Given the description of an element on the screen output the (x, y) to click on. 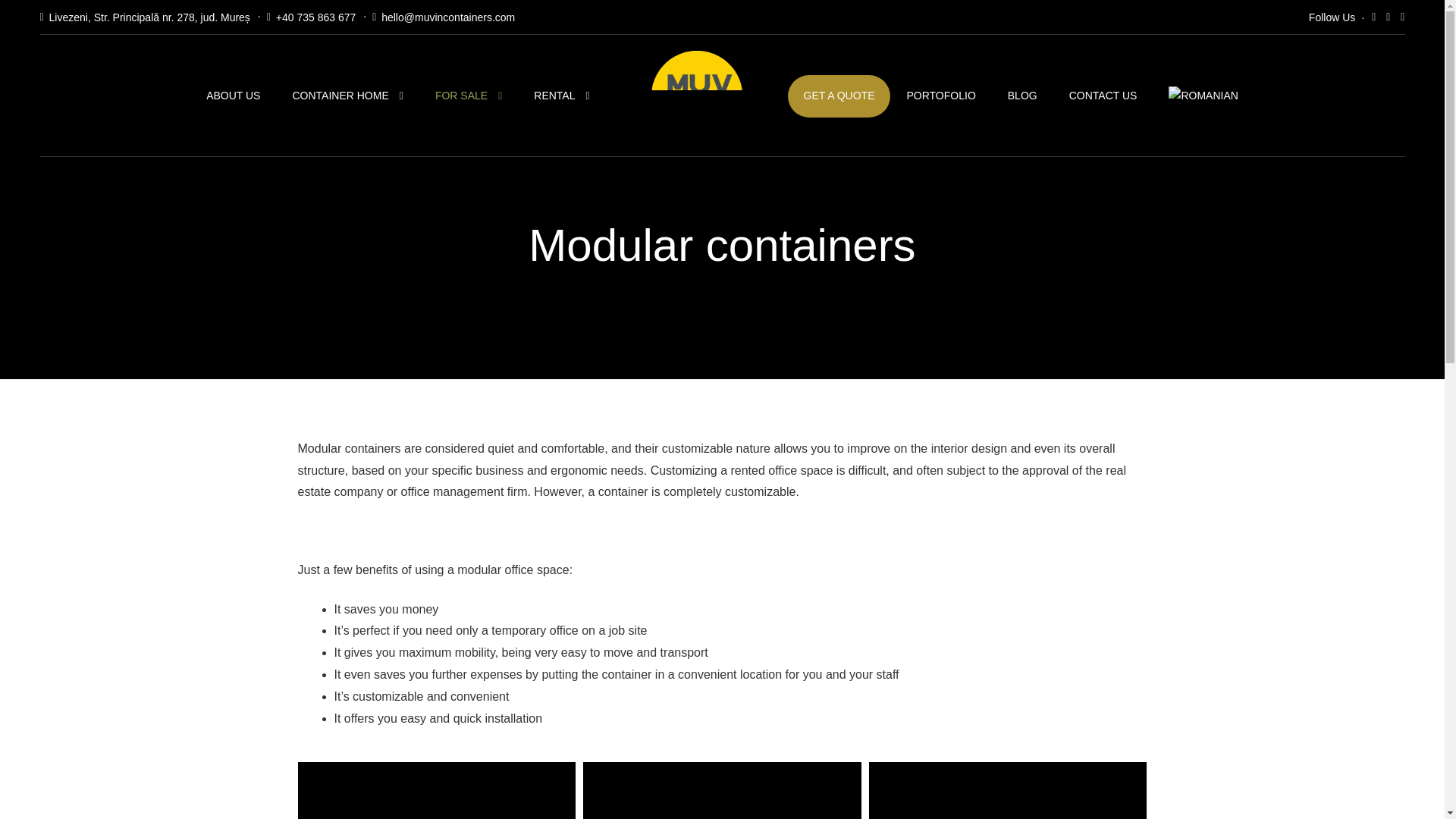
CONTACT US (1102, 96)
FOR SALE (468, 95)
GET A QUOTE (839, 96)
RENTAL (561, 95)
CONTAINER HOME (347, 95)
BLOG (1021, 96)
PORTOFOLIO (940, 96)
ABOUT US (233, 96)
